Given the description of an element on the screen output the (x, y) to click on. 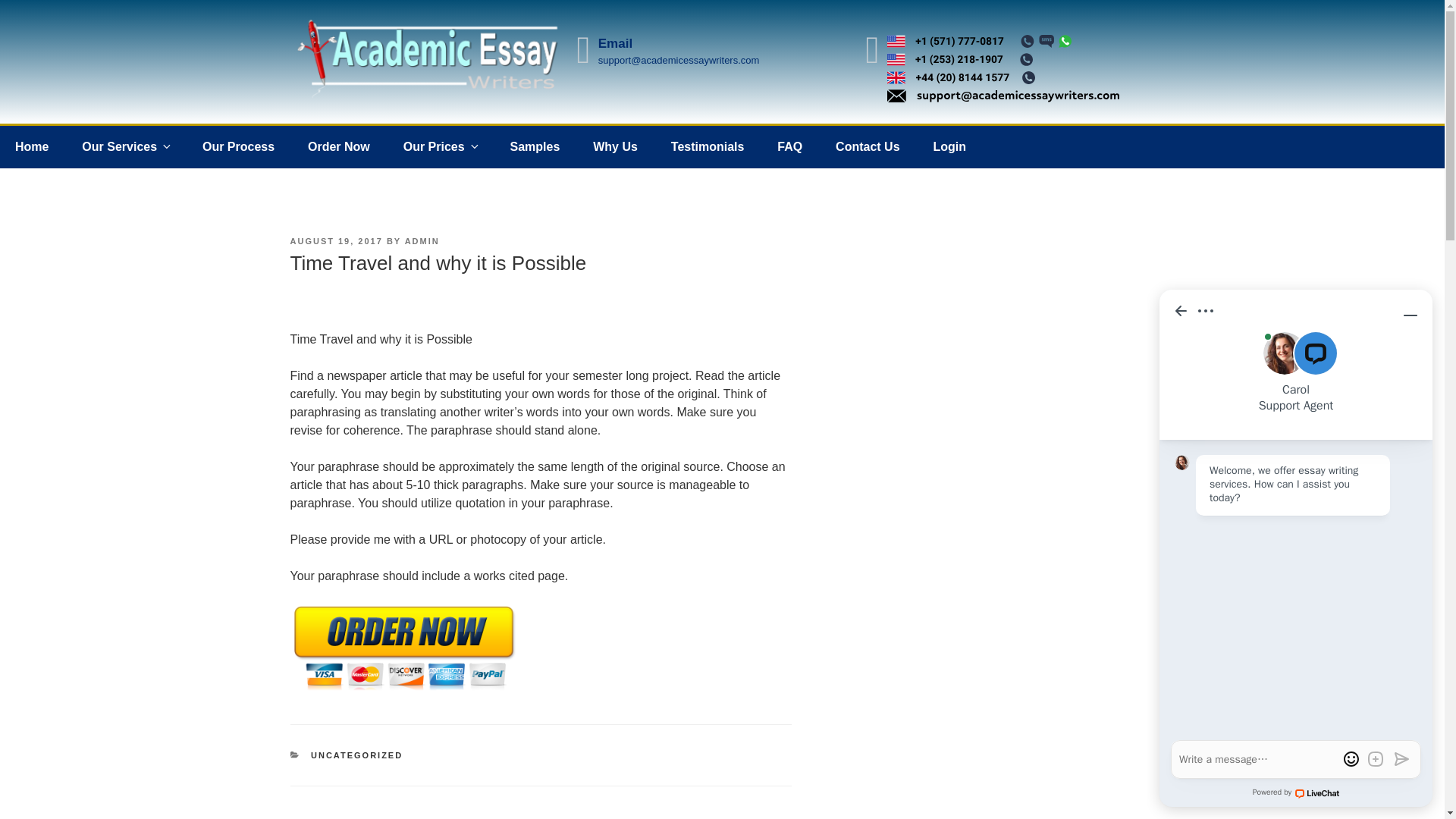
Samples (535, 147)
ADMIN (421, 240)
Order Now (338, 147)
Our Services (125, 147)
Login (949, 147)
AUGUST 19, 2017 (335, 240)
Home (32, 147)
Why Us (615, 147)
Our Process (238, 147)
Contact Us (867, 147)
Our Prices (440, 147)
Testimonials (708, 147)
FAQ (788, 147)
Click to Order (402, 689)
